Given the description of an element on the screen output the (x, y) to click on. 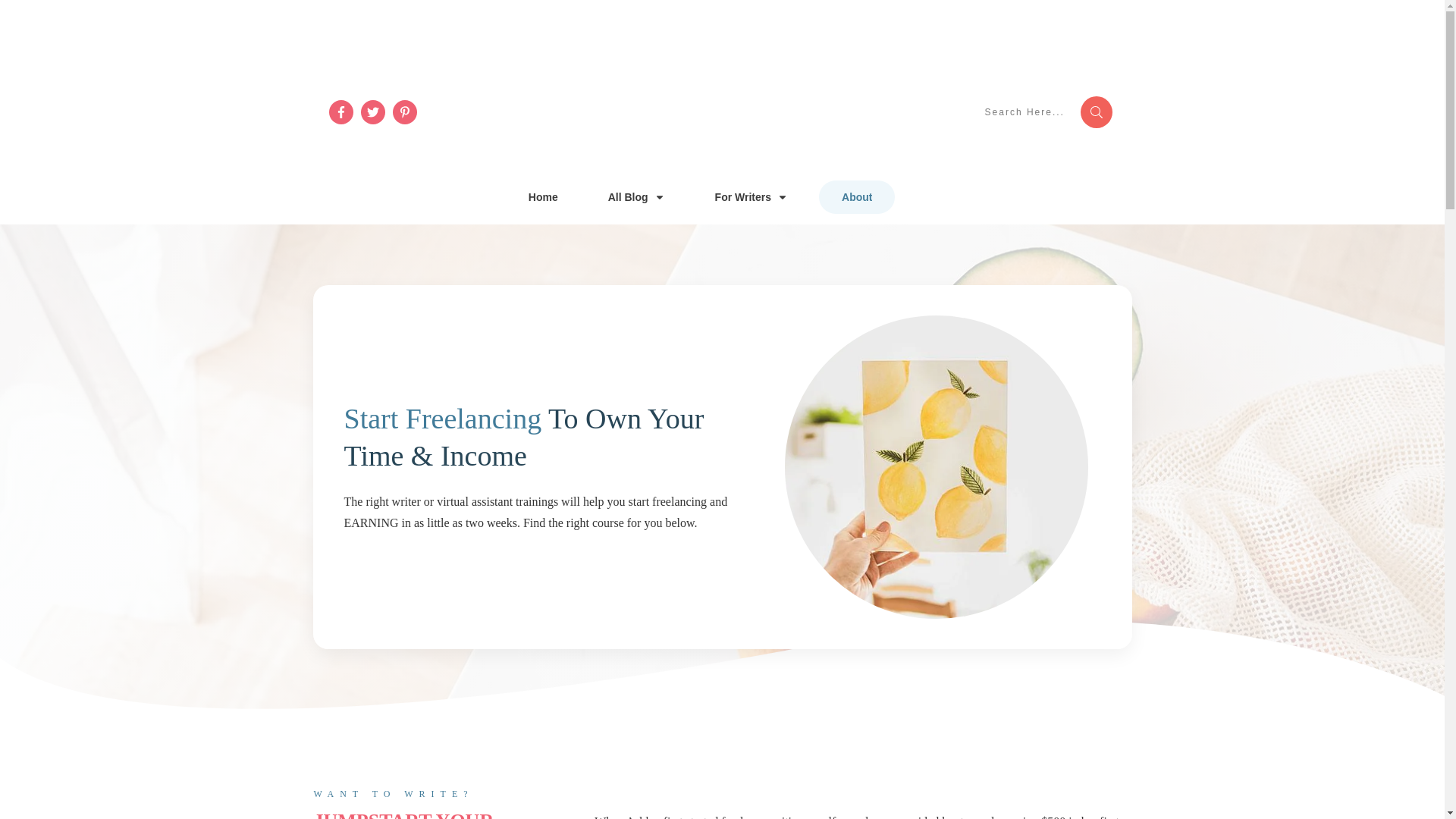
Home (542, 197)
About (856, 197)
All Blog (636, 197)
For Writers (750, 197)
About (856, 197)
